Given the description of an element on the screen output the (x, y) to click on. 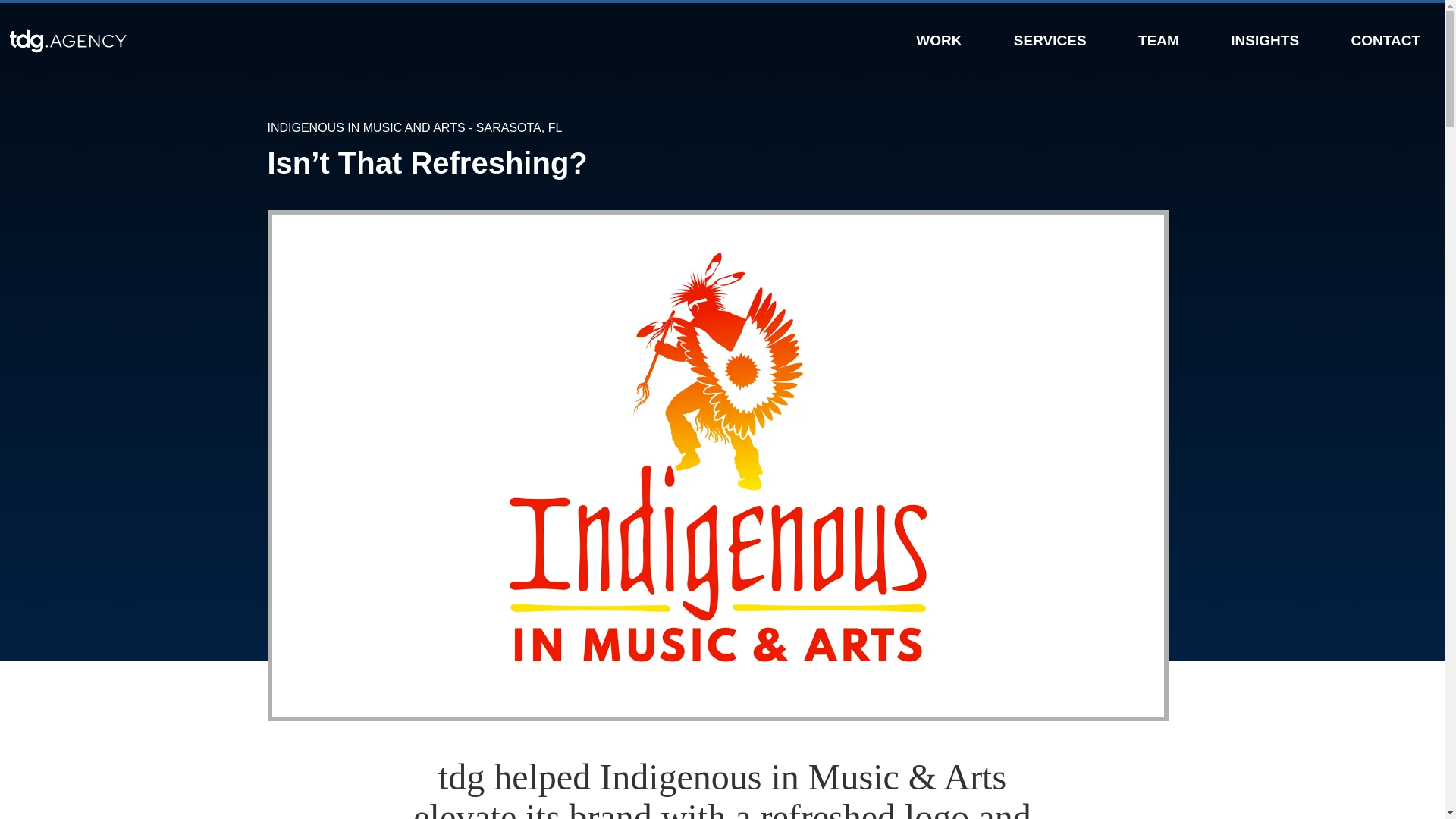
INSIGHTS (1264, 39)
TEAM (1158, 39)
CONTACT (1386, 39)
tdg logo (180, 40)
WORK (937, 39)
SERVICES (1049, 39)
